Given the description of an element on the screen output the (x, y) to click on. 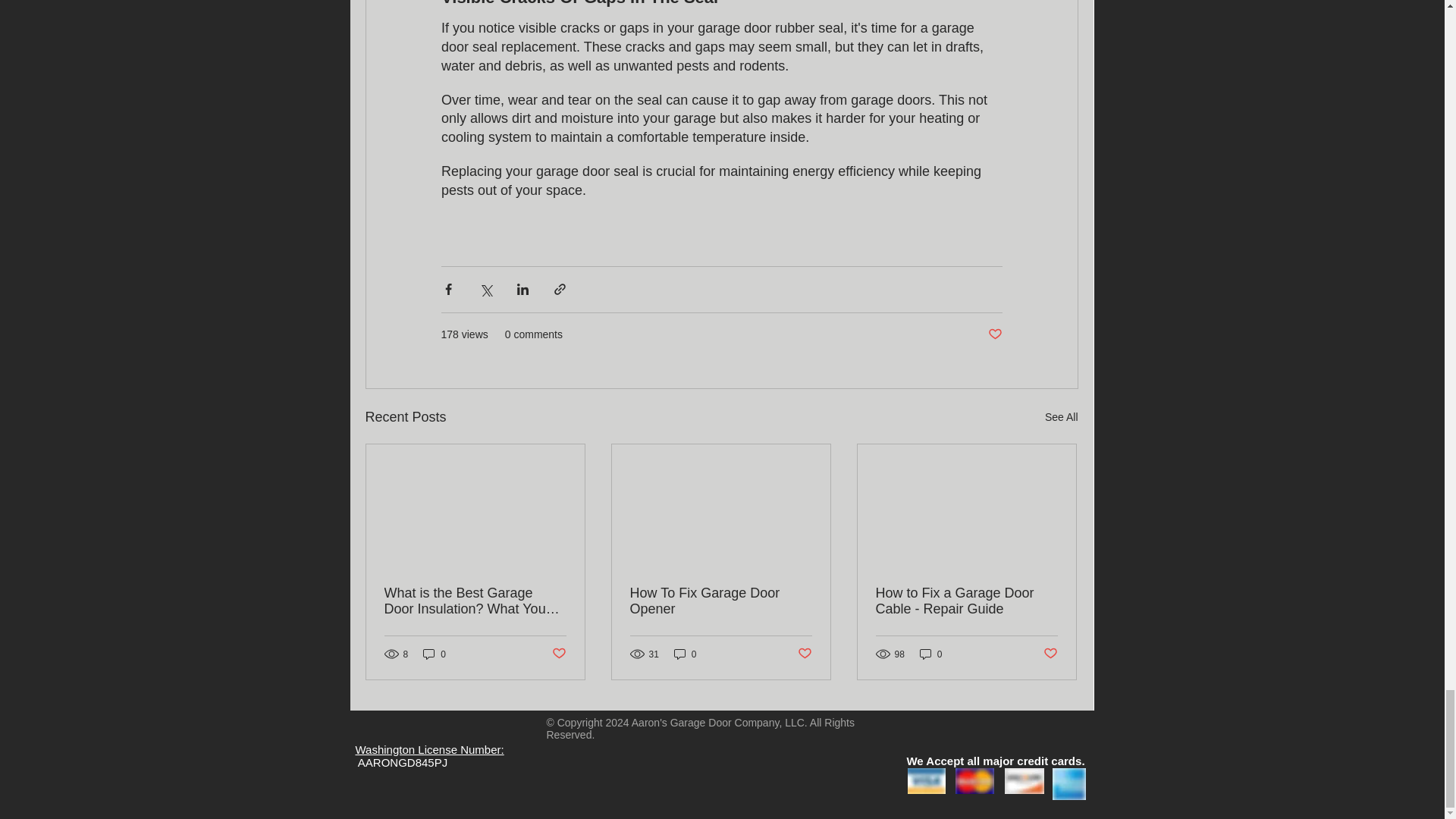
How to Fix a Garage Door Cable - Repair Guide (966, 601)
Post not marked as liked (804, 653)
See All (1061, 417)
Post not marked as liked (558, 653)
Post not marked as liked (1050, 653)
How To Fix Garage Door Opener (719, 601)
American Express (1069, 784)
MasterCard (974, 780)
0 (434, 653)
